Given the description of an element on the screen output the (x, y) to click on. 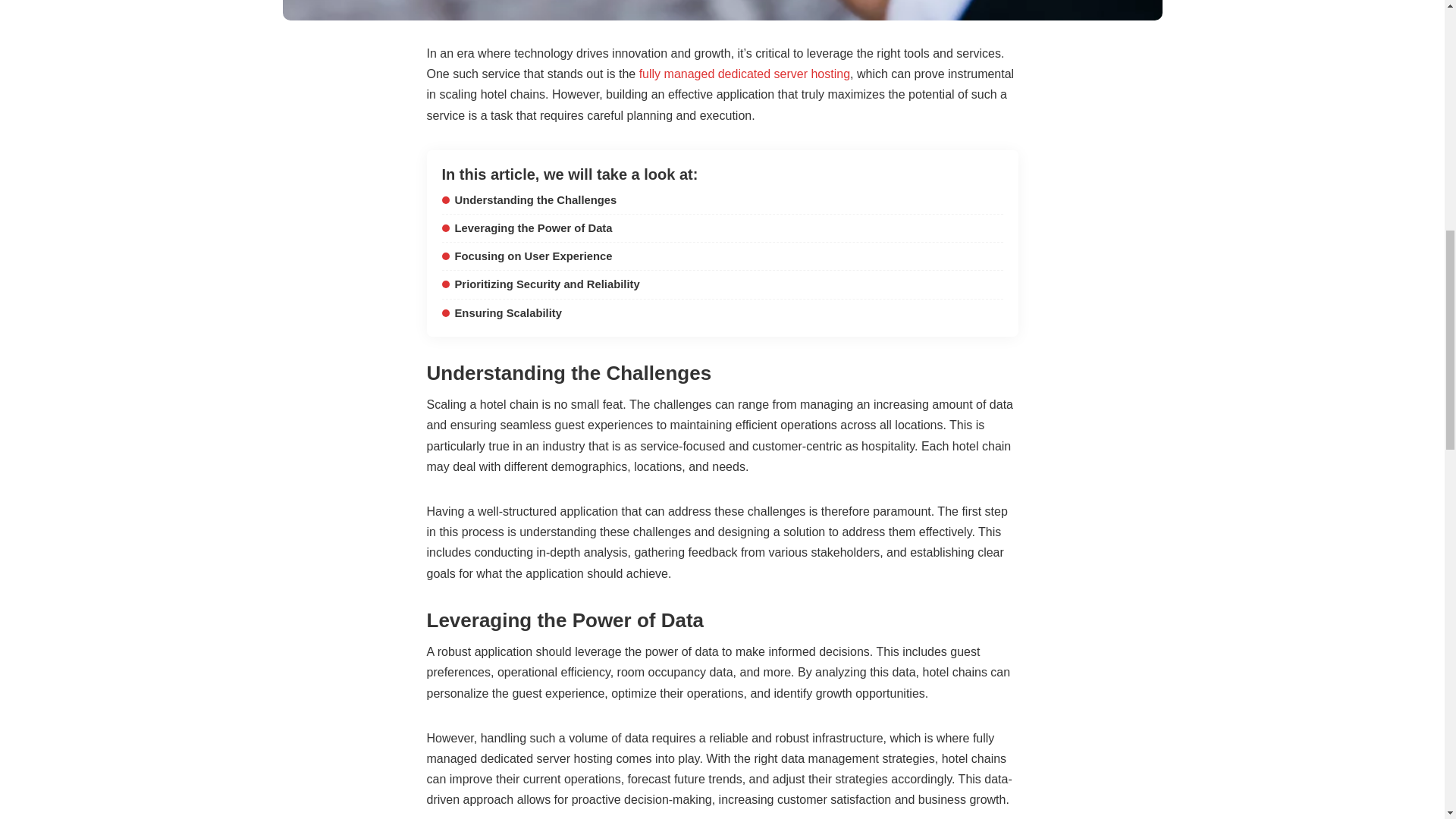
Ensuring Scalability (500, 313)
Leveraging the Power of Data (526, 227)
Focusing on User Experience (526, 256)
Understanding the Challenges (528, 200)
Prioritizing Security and Reliability (540, 284)
fully managed dedicated server hosting (744, 73)
